Given the description of an element on the screen output the (x, y) to click on. 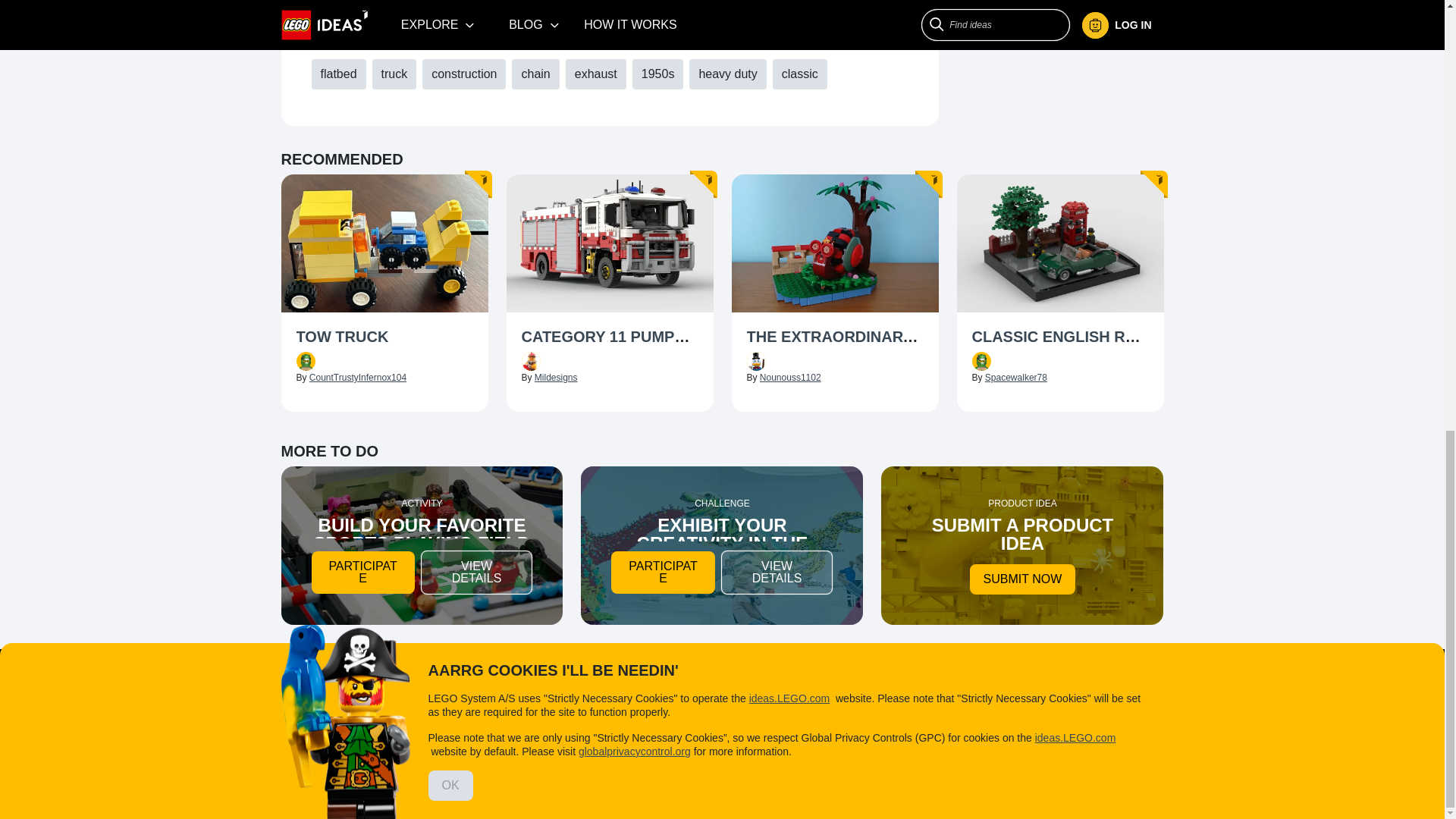
Category 11 Pumper NSW RFS Fire Truck (609, 337)
Tow Truck (383, 337)
